Given the description of an element on the screen output the (x, y) to click on. 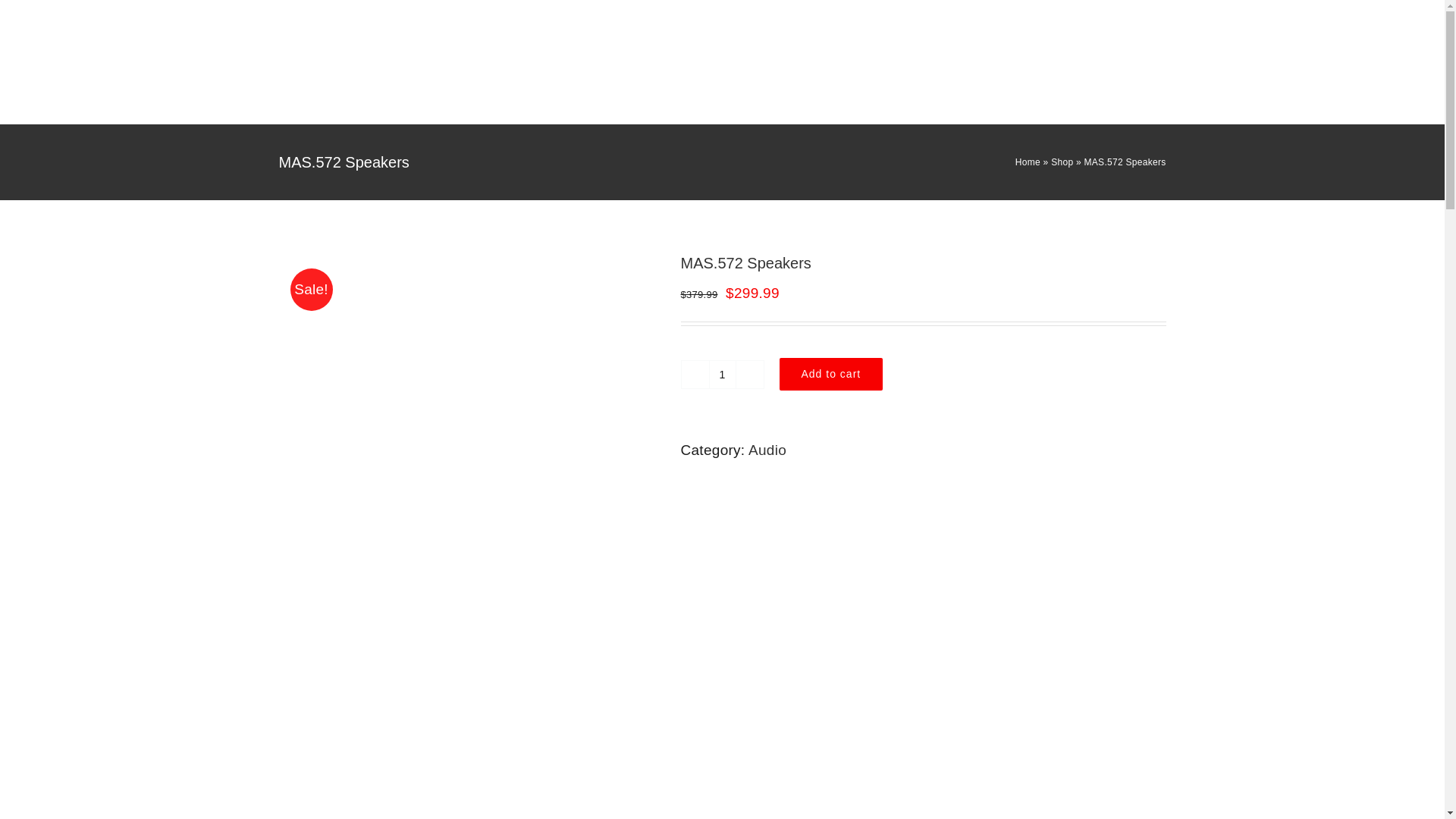
1 (721, 374)
Home (1027, 162)
Audio (767, 449)
Shop (1062, 162)
Add to cart (830, 373)
